Given the description of an element on the screen output the (x, y) to click on. 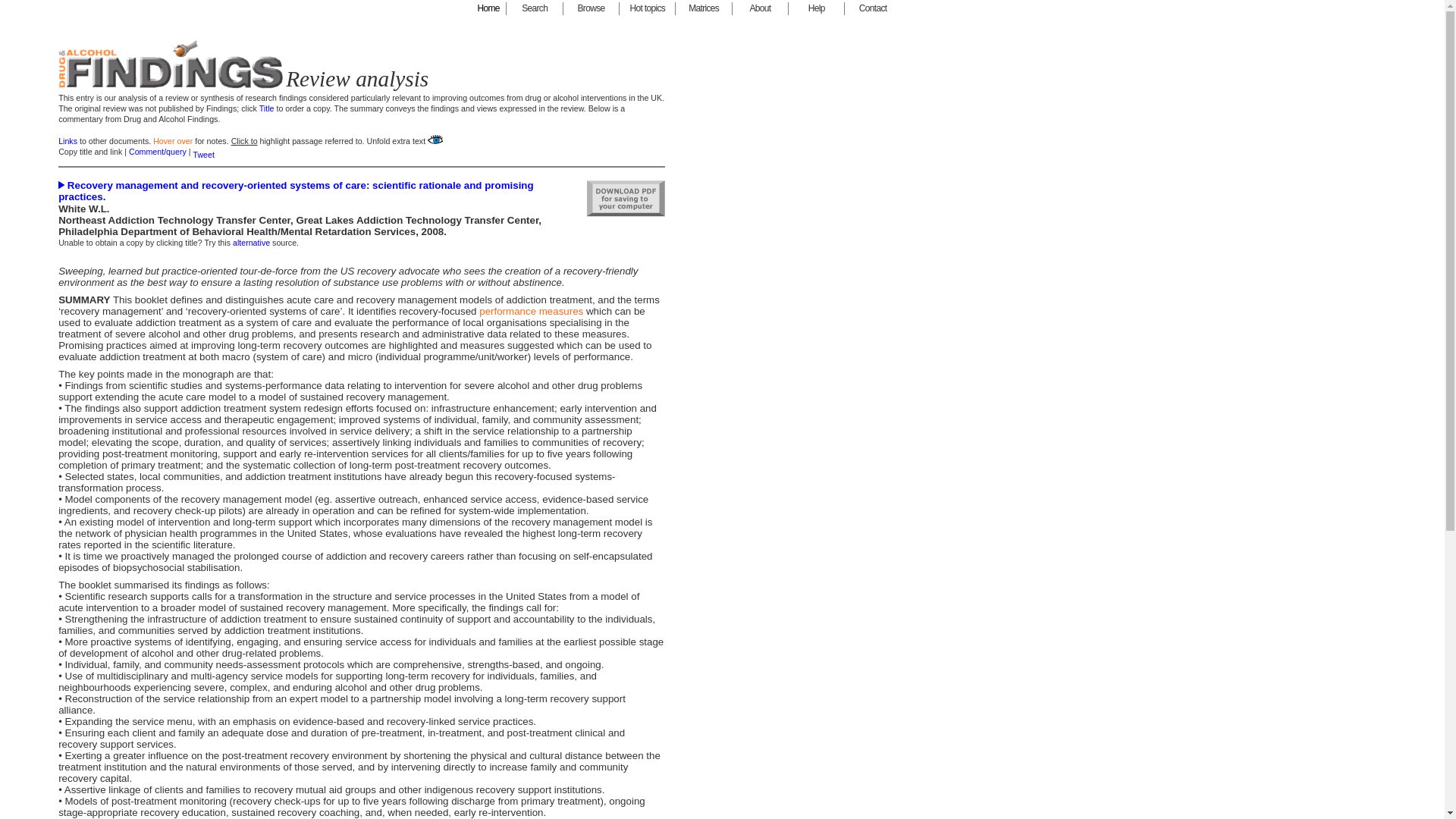
performance measures (531, 310)
alternative (250, 242)
Copy title and link (90, 151)
Home (488, 8)
How to find the research you are looking for (534, 8)
About the Drug and Alcohol Findings Effectiveness Bank (760, 8)
Browse through our research analysis and magazine (591, 8)
Effectiveness Bank home page. Opens new window (488, 8)
Important and controversial issues (647, 8)
